Given the description of an element on the screen output the (x, y) to click on. 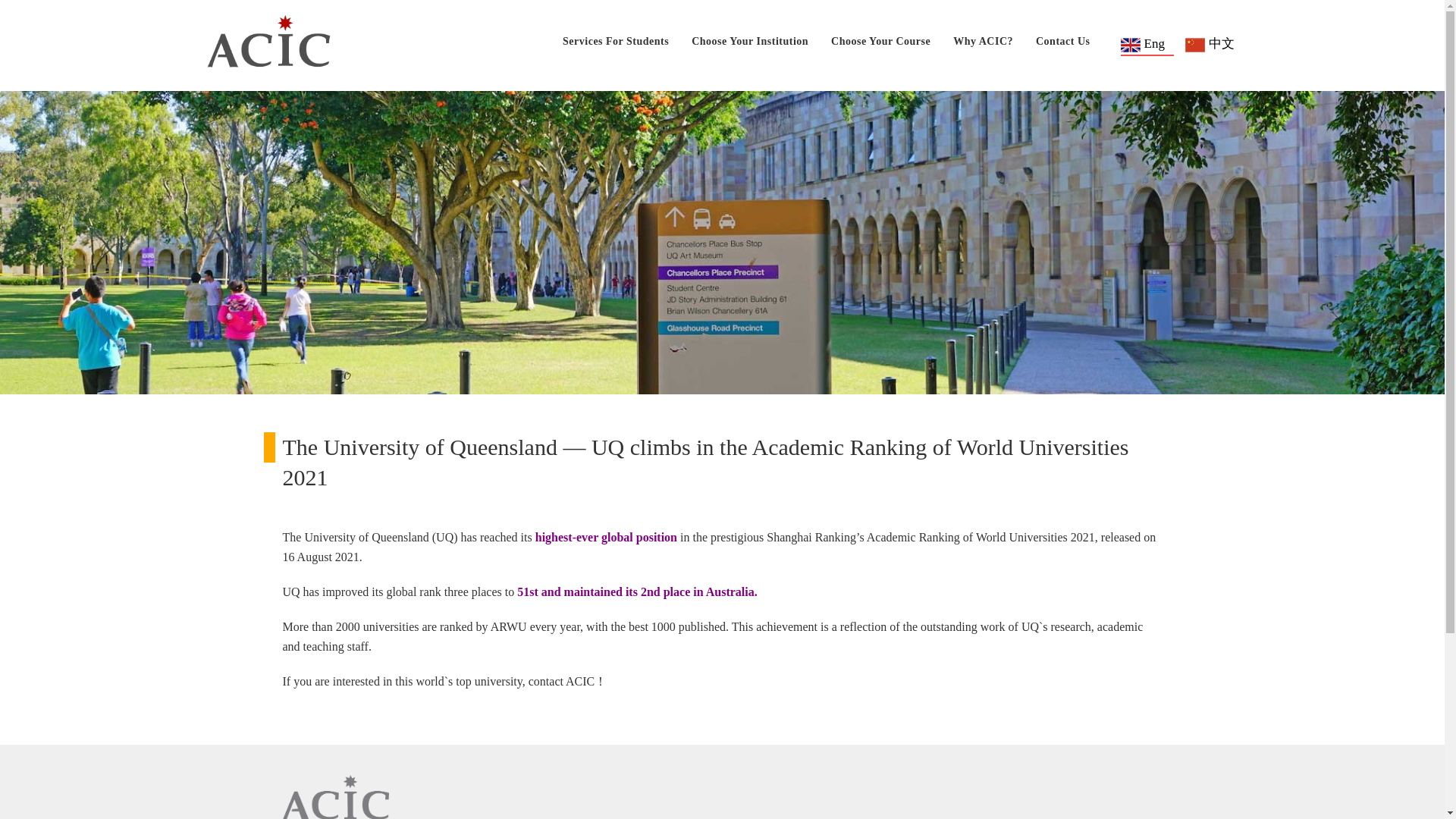
Eng (1147, 43)
Choose Your Institution (749, 41)
Services For Students (615, 41)
Choose Your Course (880, 41)
Contact Us (1062, 41)
Why ACIC? (983, 41)
